Given the description of an element on the screen output the (x, y) to click on. 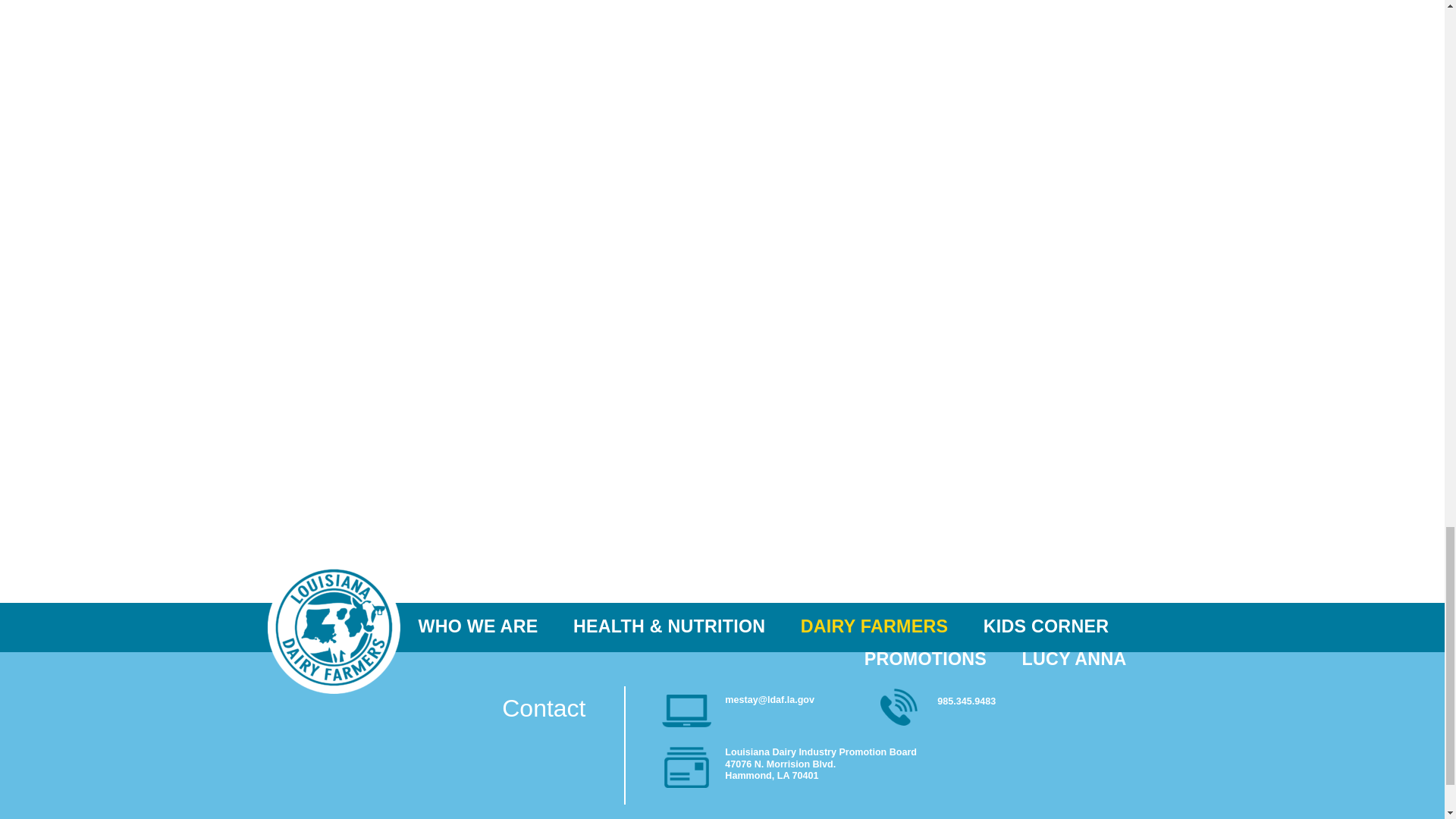
WHO WE ARE (487, 626)
KIDS CORNER (1045, 626)
PROMOTIONS (924, 658)
LUCY ANNA (1064, 658)
DAIRY FARMERS (874, 626)
